Given the description of an element on the screen output the (x, y) to click on. 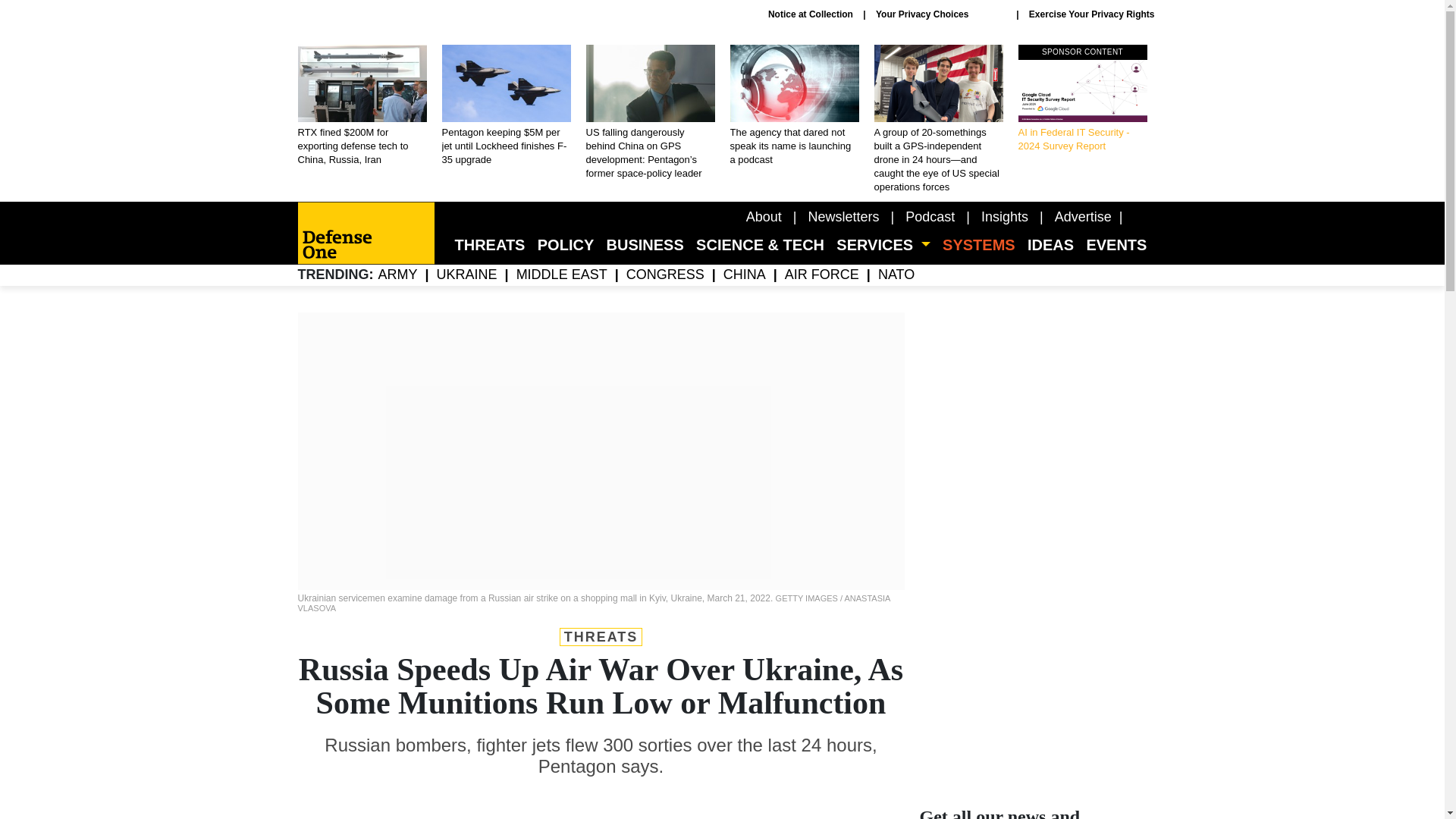
Newsletters (843, 216)
Advertise (1083, 216)
Exercise Your Privacy Rights (1091, 14)
Insights (1004, 216)
About (763, 216)
Notice at Collection (810, 14)
Your Privacy Choices (941, 14)
Podcast (930, 216)
